Given the description of an element on the screen output the (x, y) to click on. 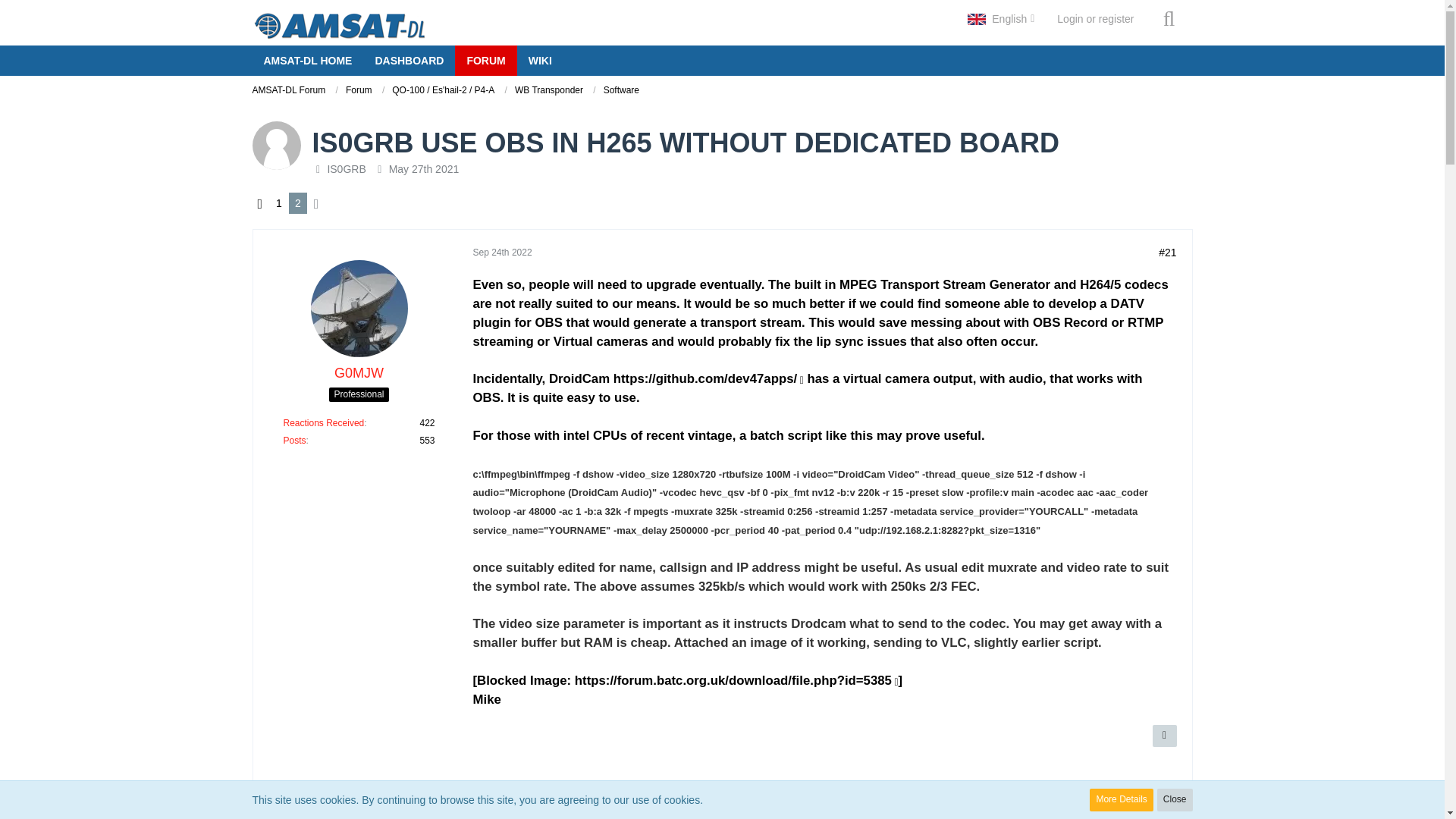
IS0GRB (345, 168)
WB Transponder (555, 90)
Posts (294, 439)
Forum (359, 90)
Sep 24th 2022 (502, 800)
Login or register (1094, 18)
Reactions Received (324, 422)
Sep 24th 2022 (502, 252)
Software (621, 90)
WB Transponder (549, 90)
English (1000, 18)
DASHBOARD (408, 60)
Forum (365, 90)
